Given the description of an element on the screen output the (x, y) to click on. 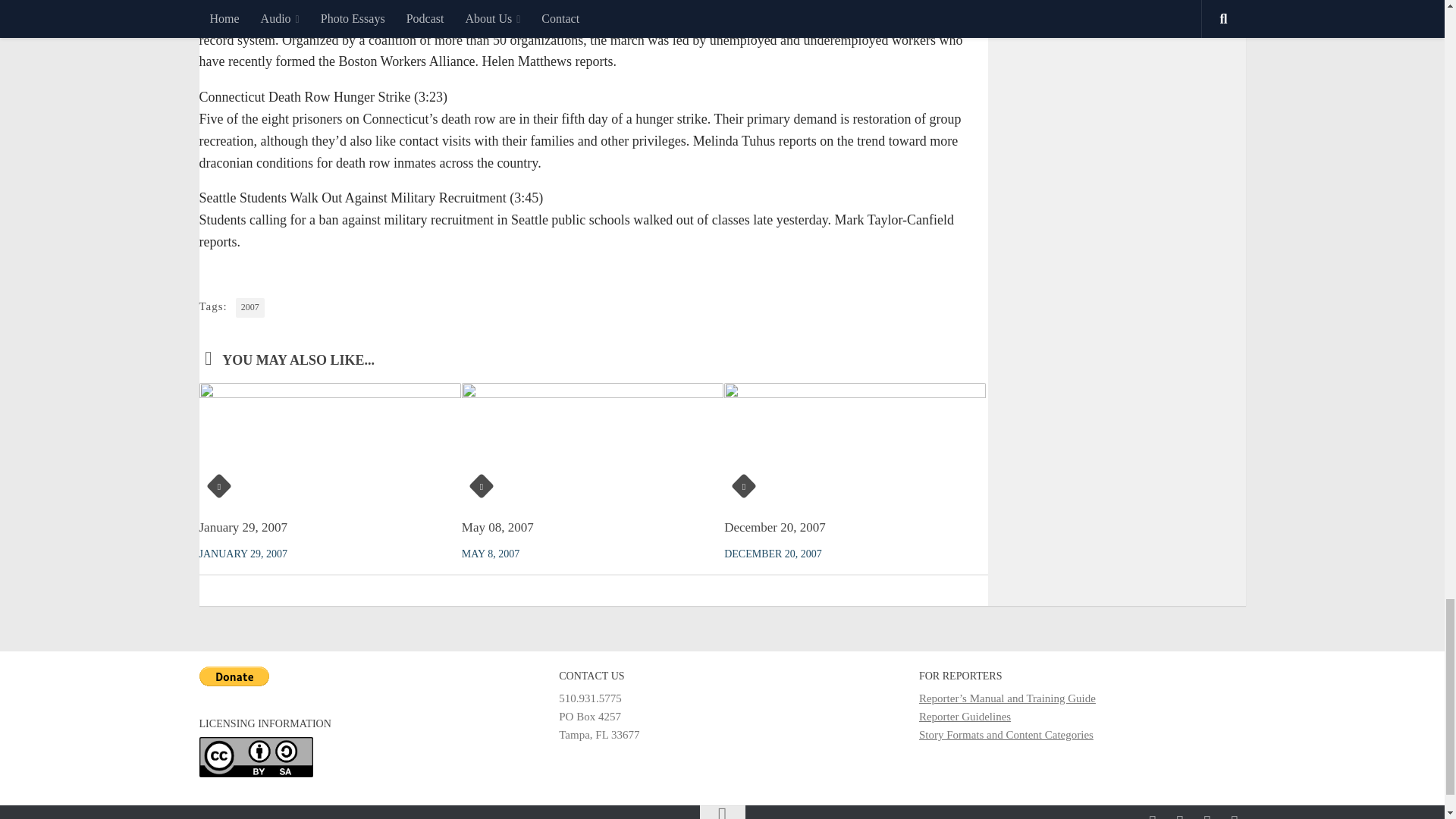
January 29, 2007 (242, 527)
May 08, 2007 (497, 527)
December 20, 2007 (774, 527)
2007 (249, 307)
